Given the description of an element on the screen output the (x, y) to click on. 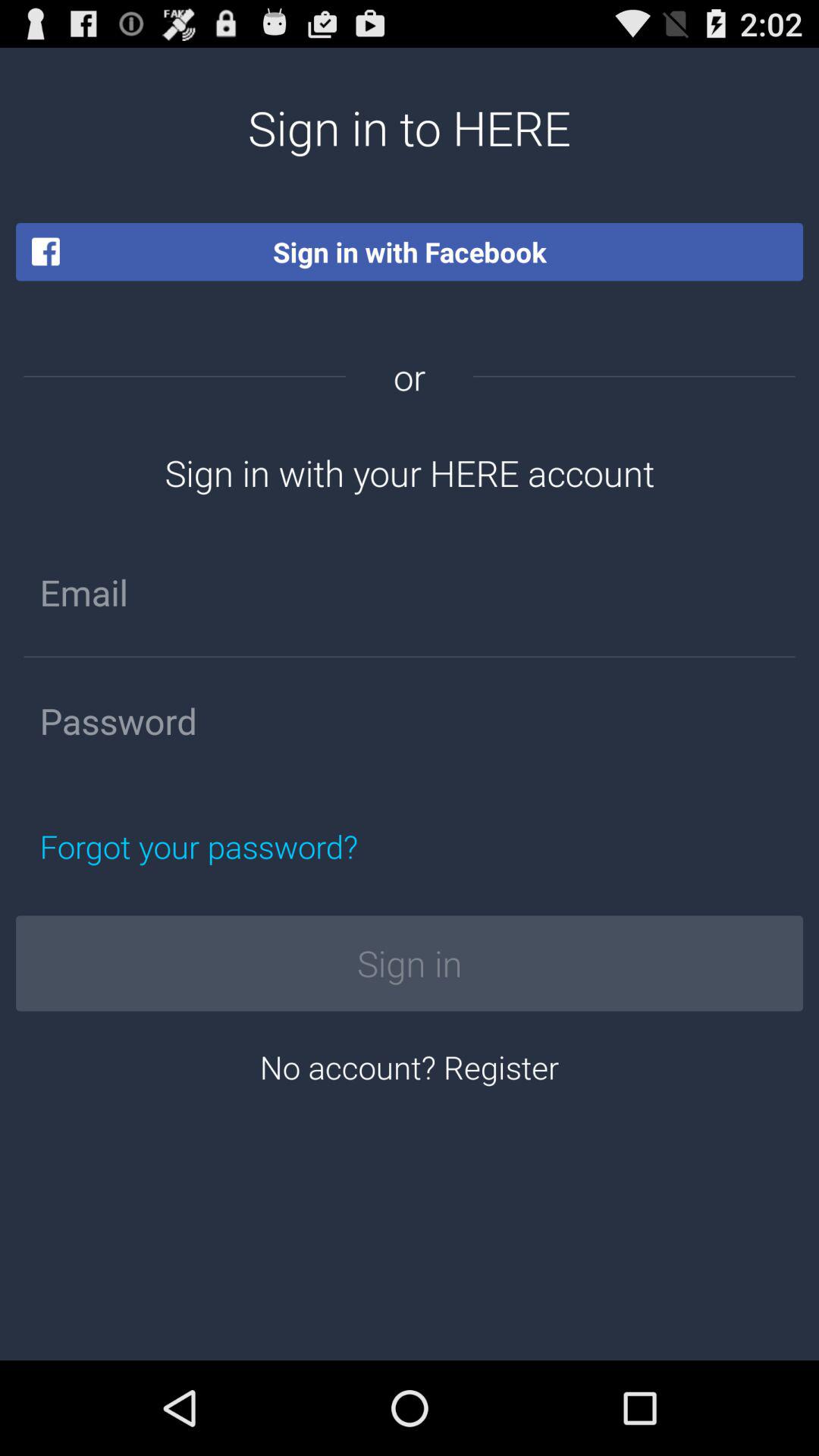
jump until forgot your password? item (269, 845)
